Given the description of an element on the screen output the (x, y) to click on. 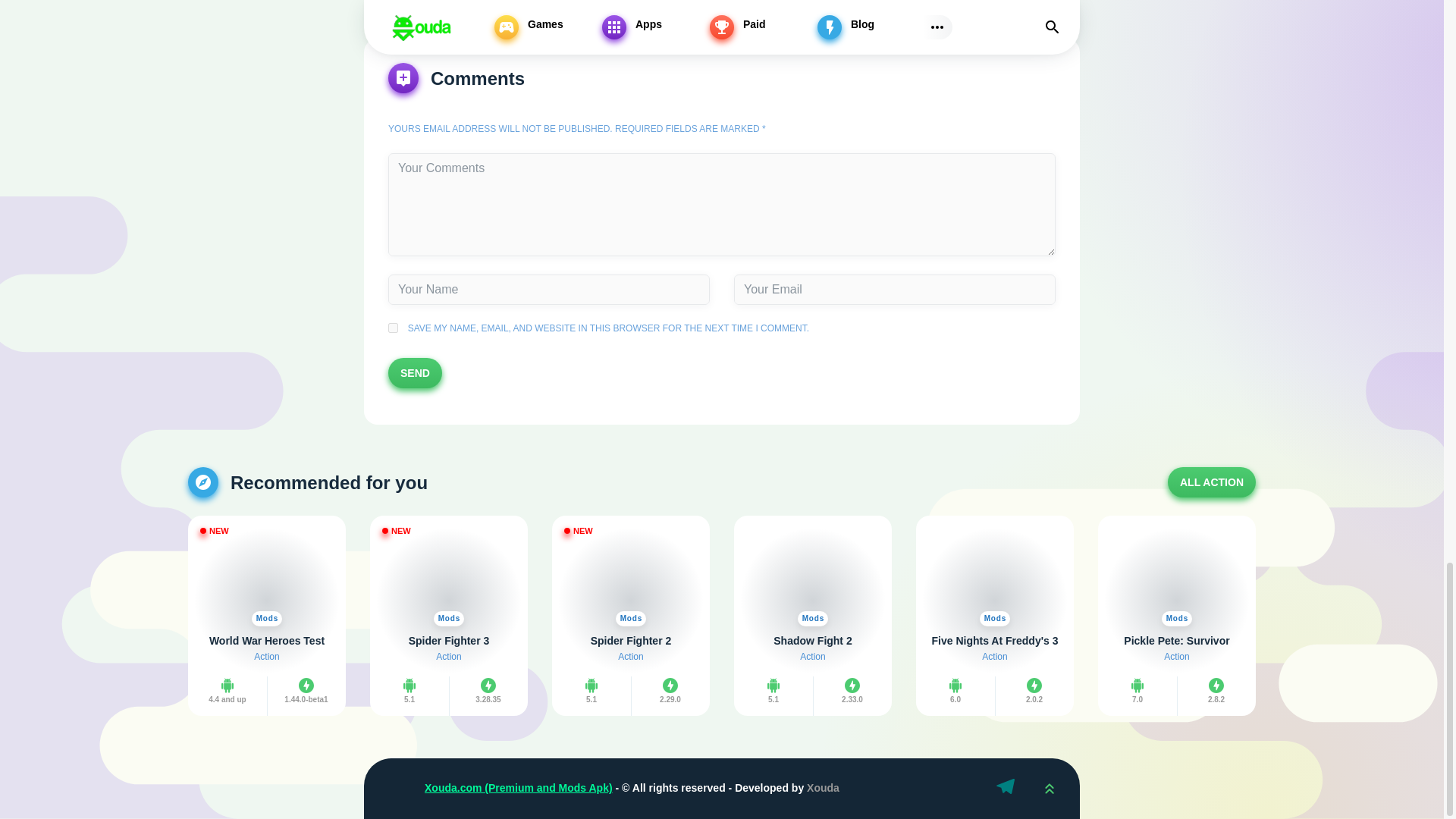
Xouda (393, 788)
shadow-fight-2.png (813, 576)
world-war-heroes-test.png (266, 576)
pickle-pete-survivor.png (1177, 576)
spider-fighter-2.png (630, 576)
five-nights-at-freddy39s-3.png (994, 576)
Xouda (1048, 788)
Scroll up (1048, 788)
yes (392, 327)
spider-fighter-3.png (449, 576)
Xouda (393, 788)
